Given the description of an element on the screen output the (x, y) to click on. 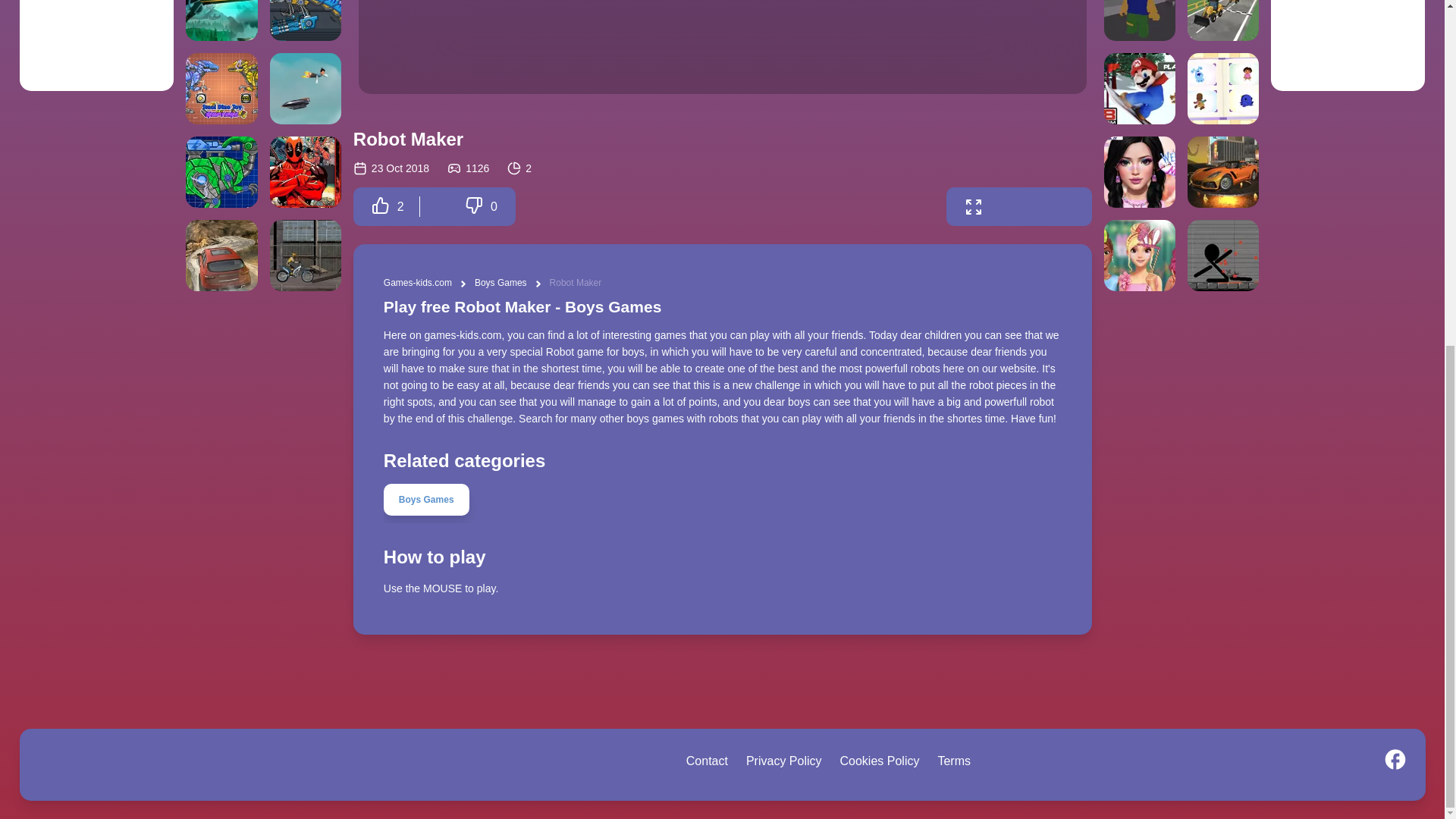
Boys Games (722, 503)
